Given the description of an element on the screen output the (x, y) to click on. 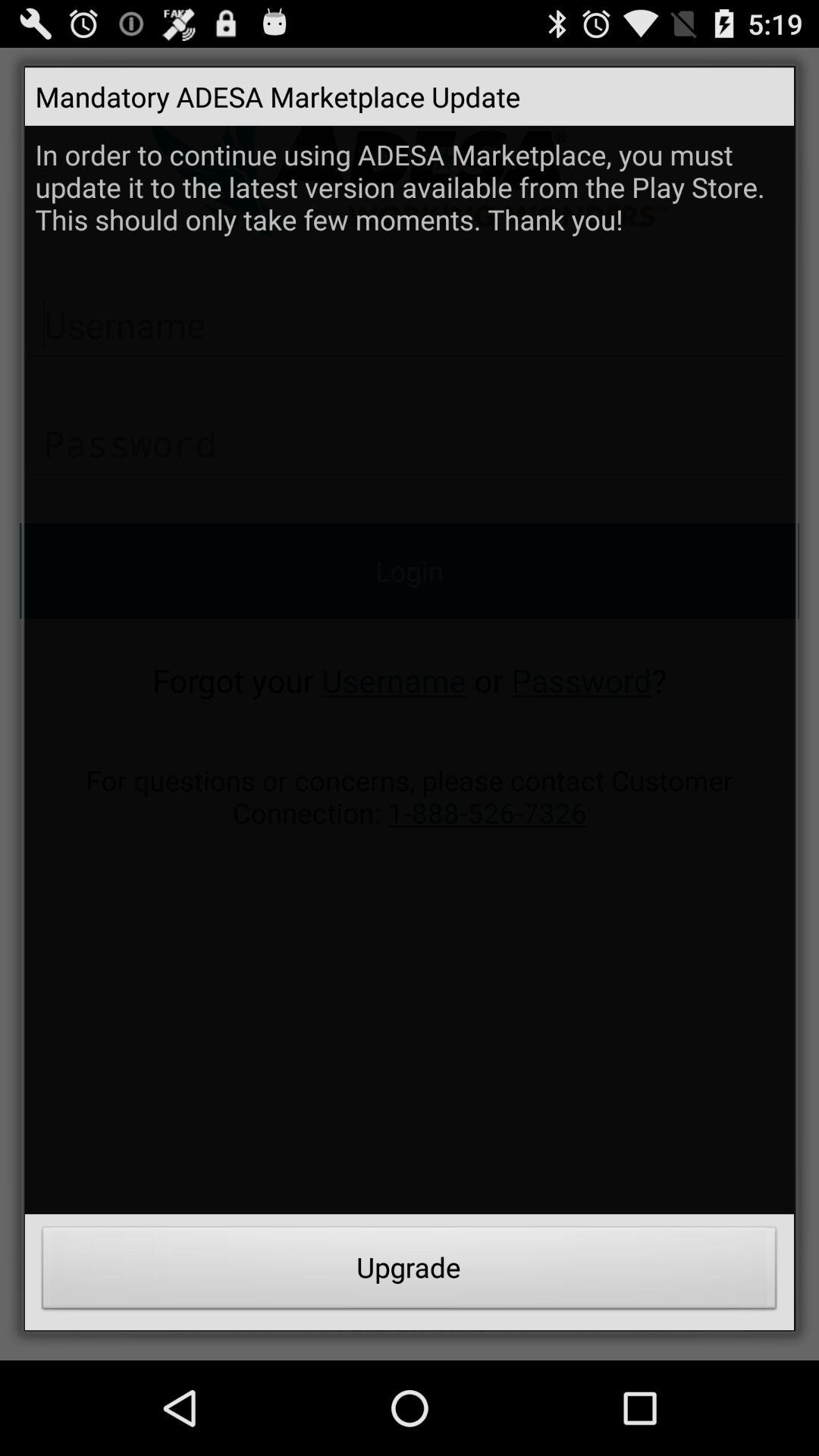
turn on upgrade at the bottom (409, 1272)
